Given the description of an element on the screen output the (x, y) to click on. 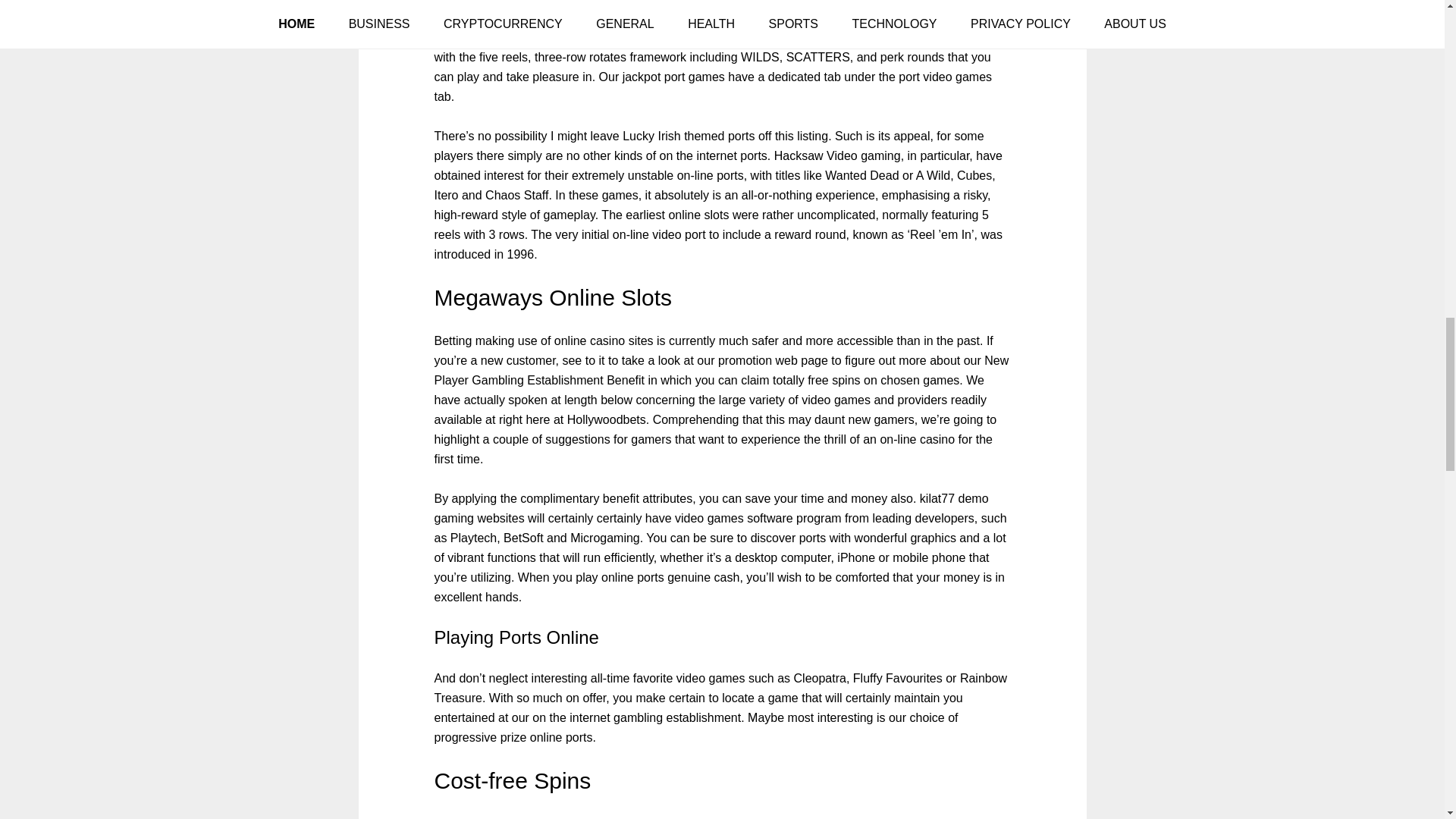
kilat77 demo (954, 498)
